Given the description of an element on the screen output the (x, y) to click on. 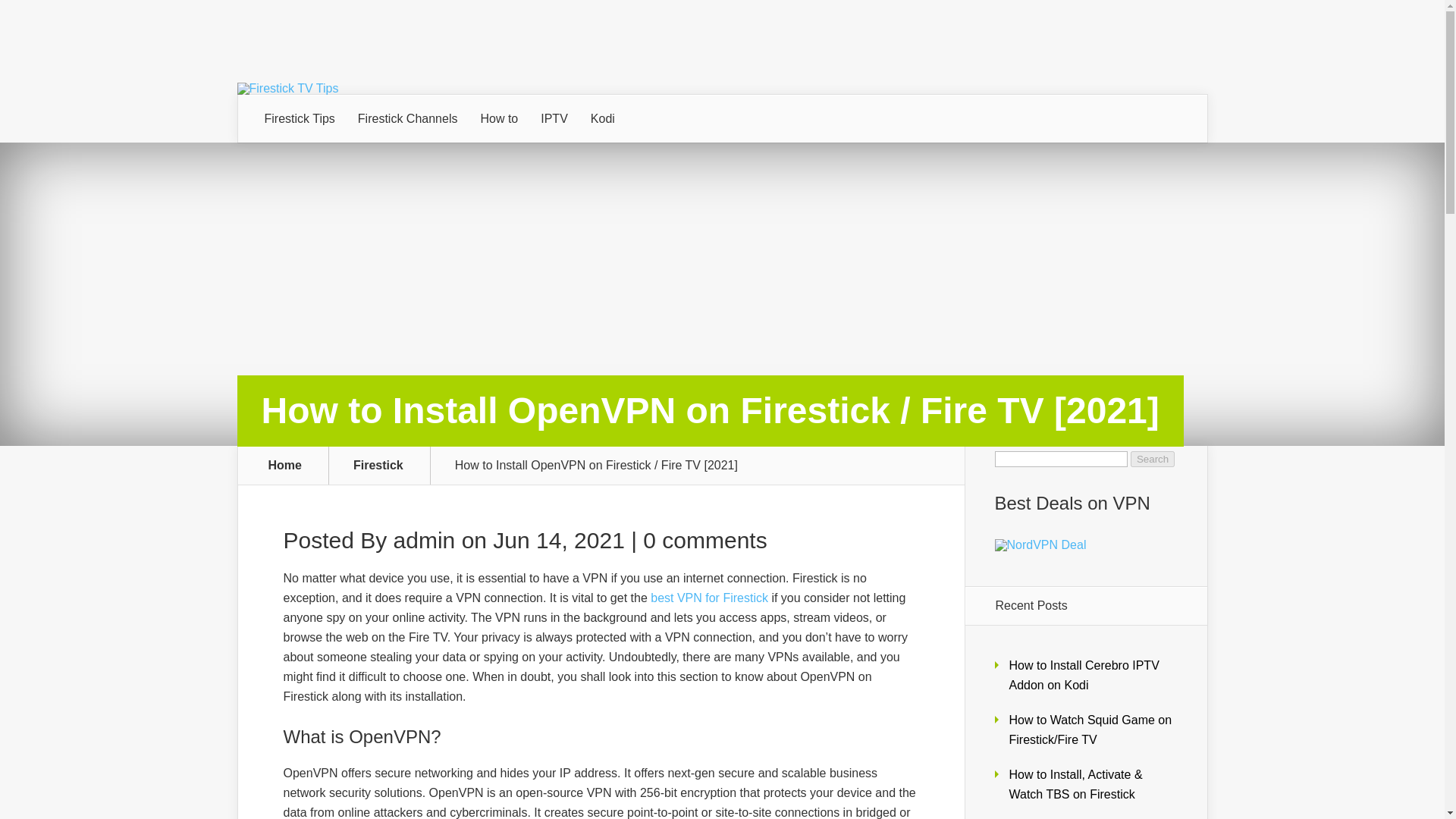
0 comments (705, 539)
Firestick (387, 465)
Home (285, 465)
Kodi (602, 119)
admin (424, 539)
best VPN for Firestick (709, 597)
Search (1152, 458)
Posts by admin (424, 539)
How to (498, 119)
How to Install Cerebro IPTV Addon on Kodi (1083, 675)
Firestick Tips (299, 119)
Search (1152, 458)
Firestick Channels (407, 119)
IPTV (554, 119)
